Given the description of an element on the screen output the (x, y) to click on. 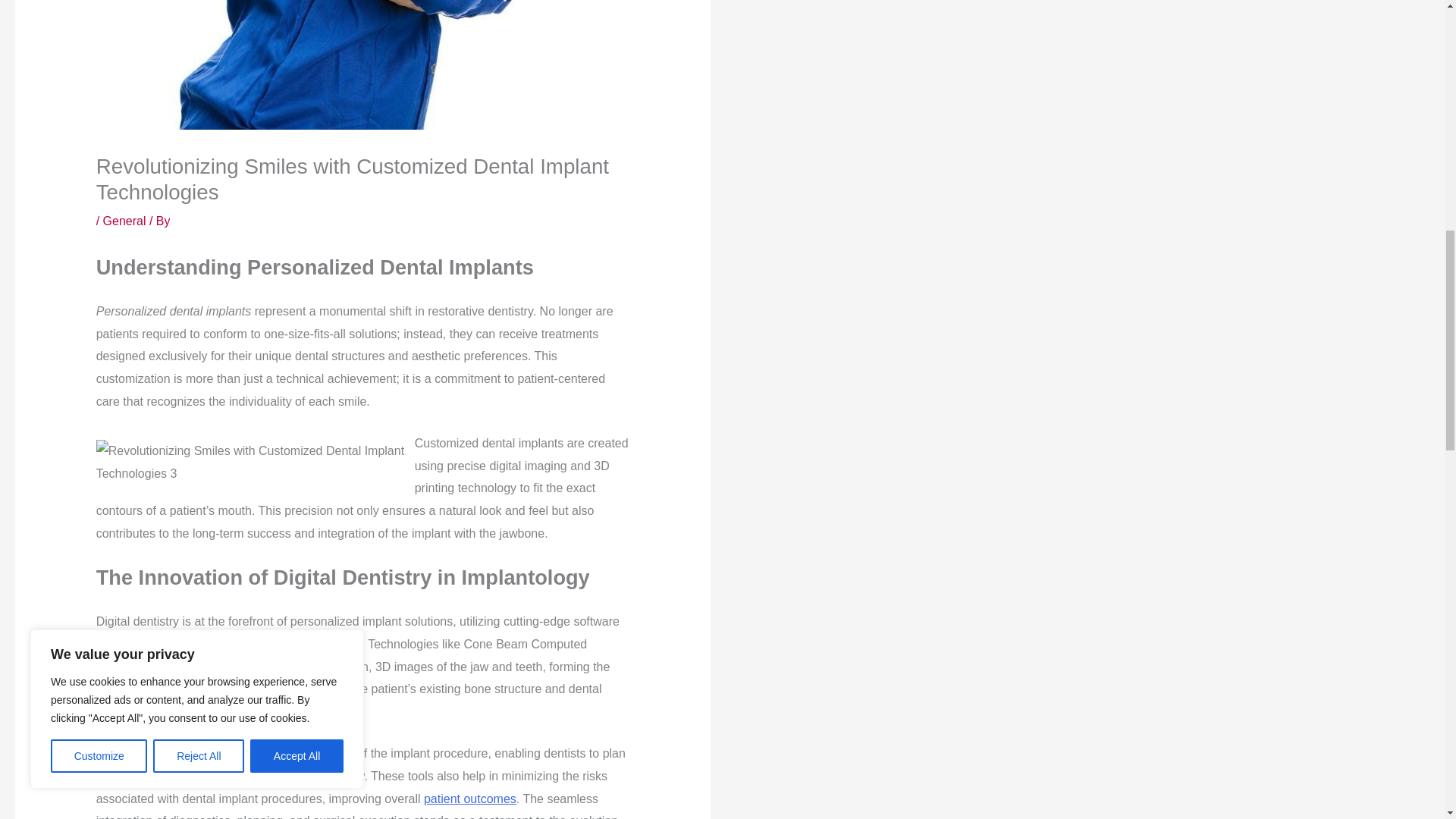
patient outcomes (469, 798)
General (125, 220)
